Given the description of an element on the screen output the (x, y) to click on. 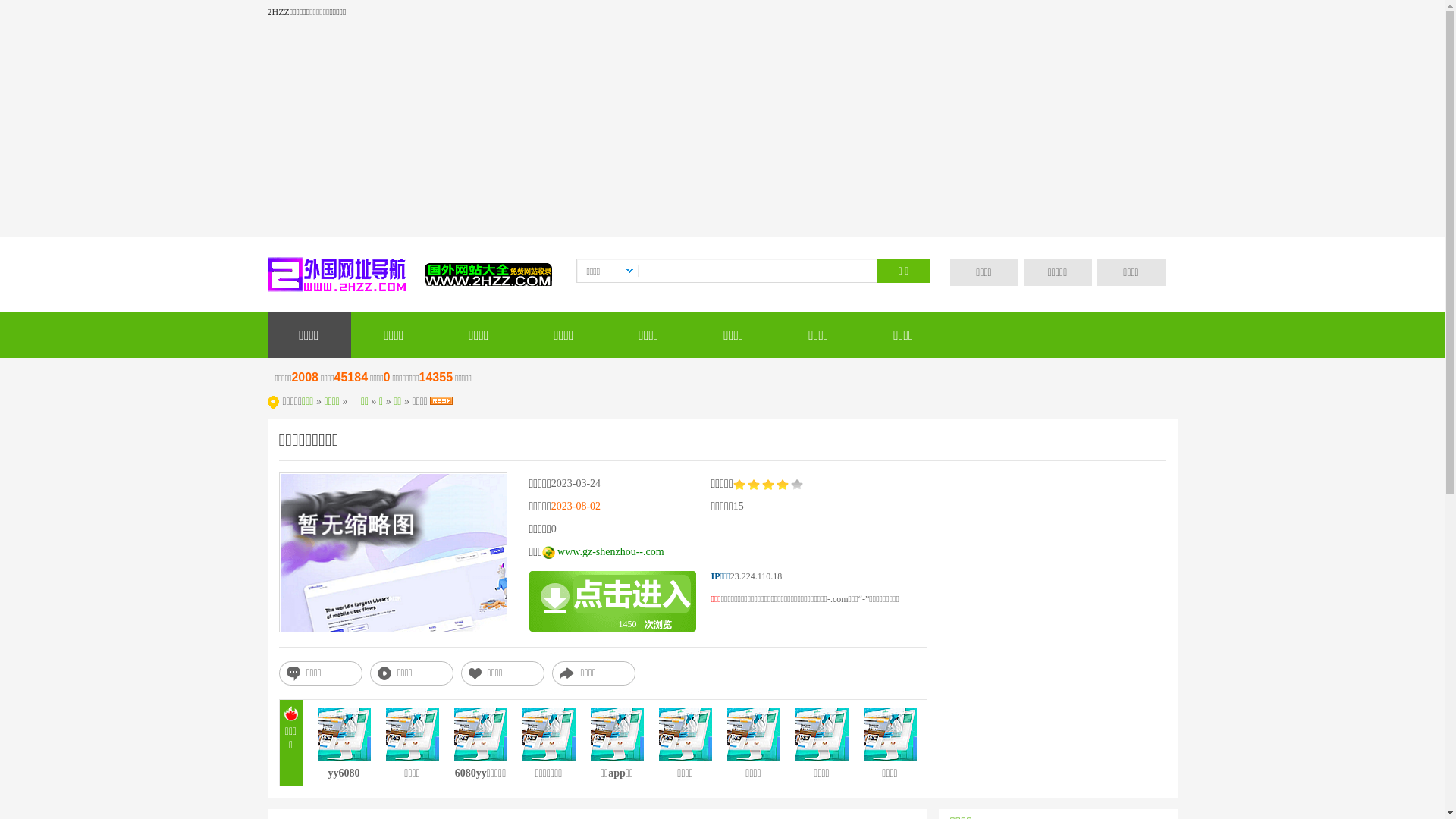
Advertisement Element type: hover (721, 130)
yy6080 Element type: text (343, 777)
